Given the description of an element on the screen output the (x, y) to click on. 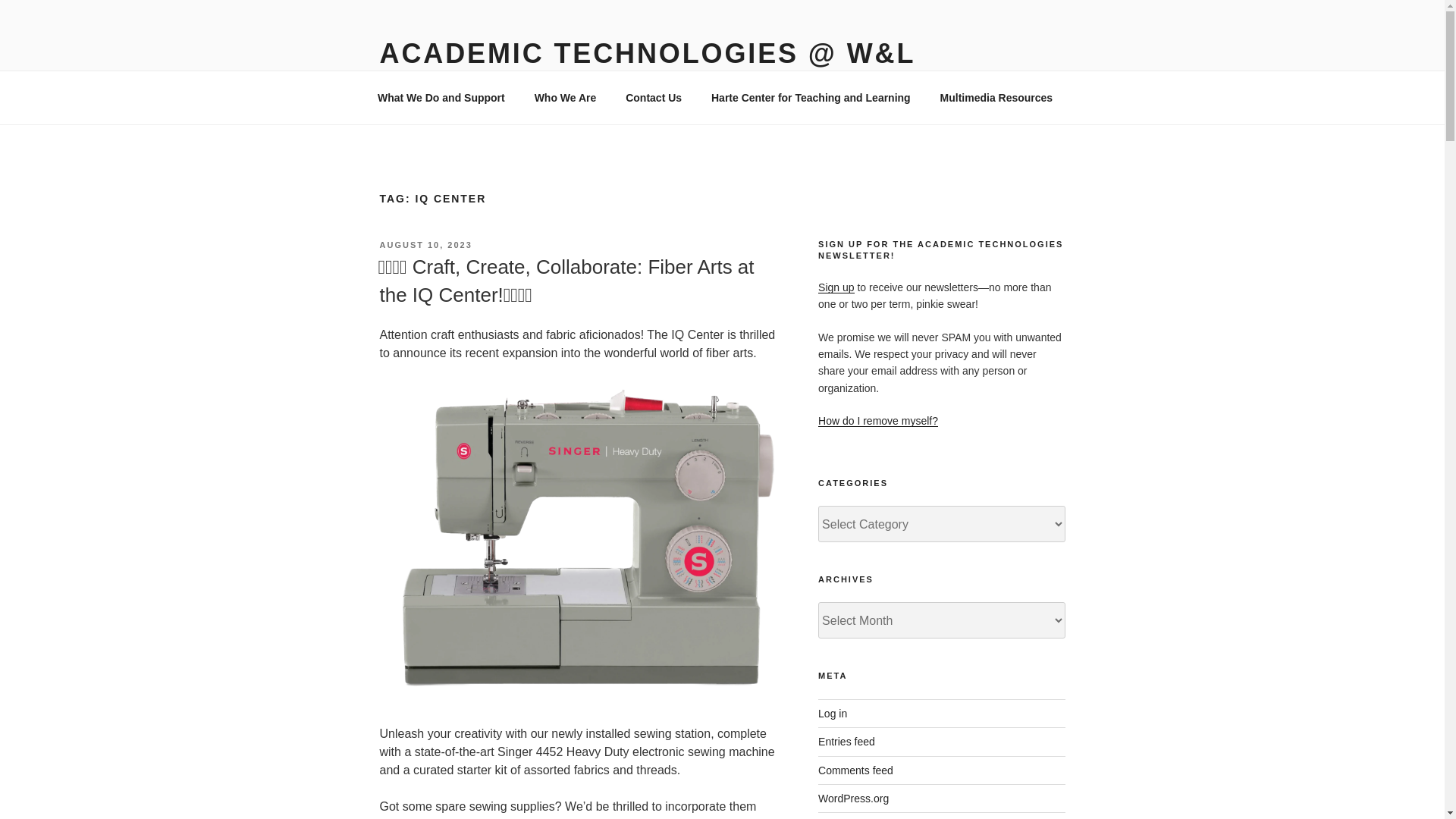
Multimedia Resources (1001, 97)
Comments feed (855, 770)
AUGUST 10, 2023 (424, 244)
Sign up (835, 287)
Harte Center for Teaching and Learning (810, 97)
Log in (832, 713)
How do I remove myself? (877, 420)
WordPress.org (853, 798)
Entries feed (846, 741)
What We Do and Support (441, 97)
